Given the description of an element on the screen output the (x, y) to click on. 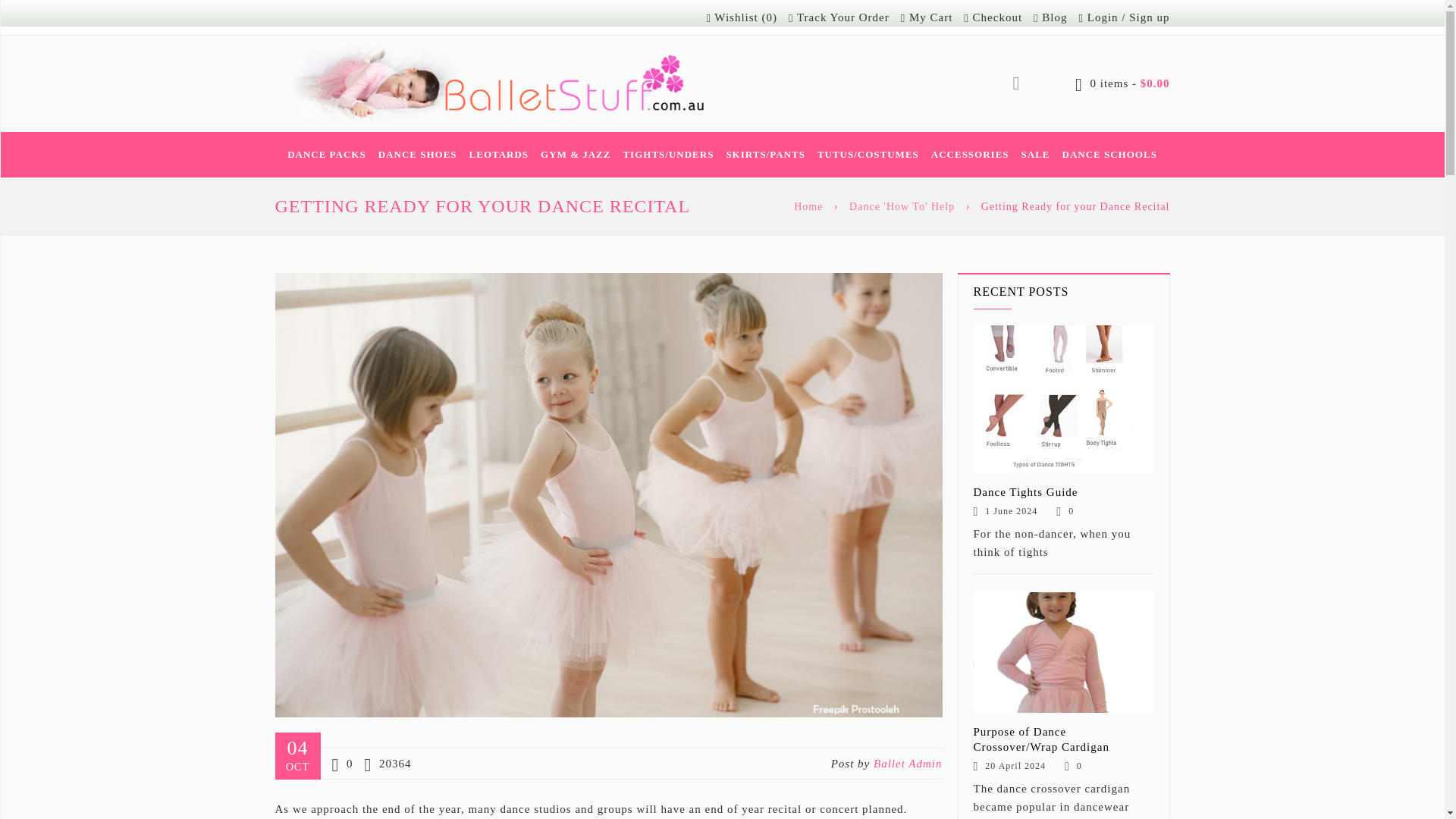
Login (1102, 17)
Create New Account (1149, 17)
Wishlist (741, 17)
Blog (1050, 17)
My Cart (927, 17)
Track your Order (839, 17)
Checkout (992, 17)
